Given the description of an element on the screen output the (x, y) to click on. 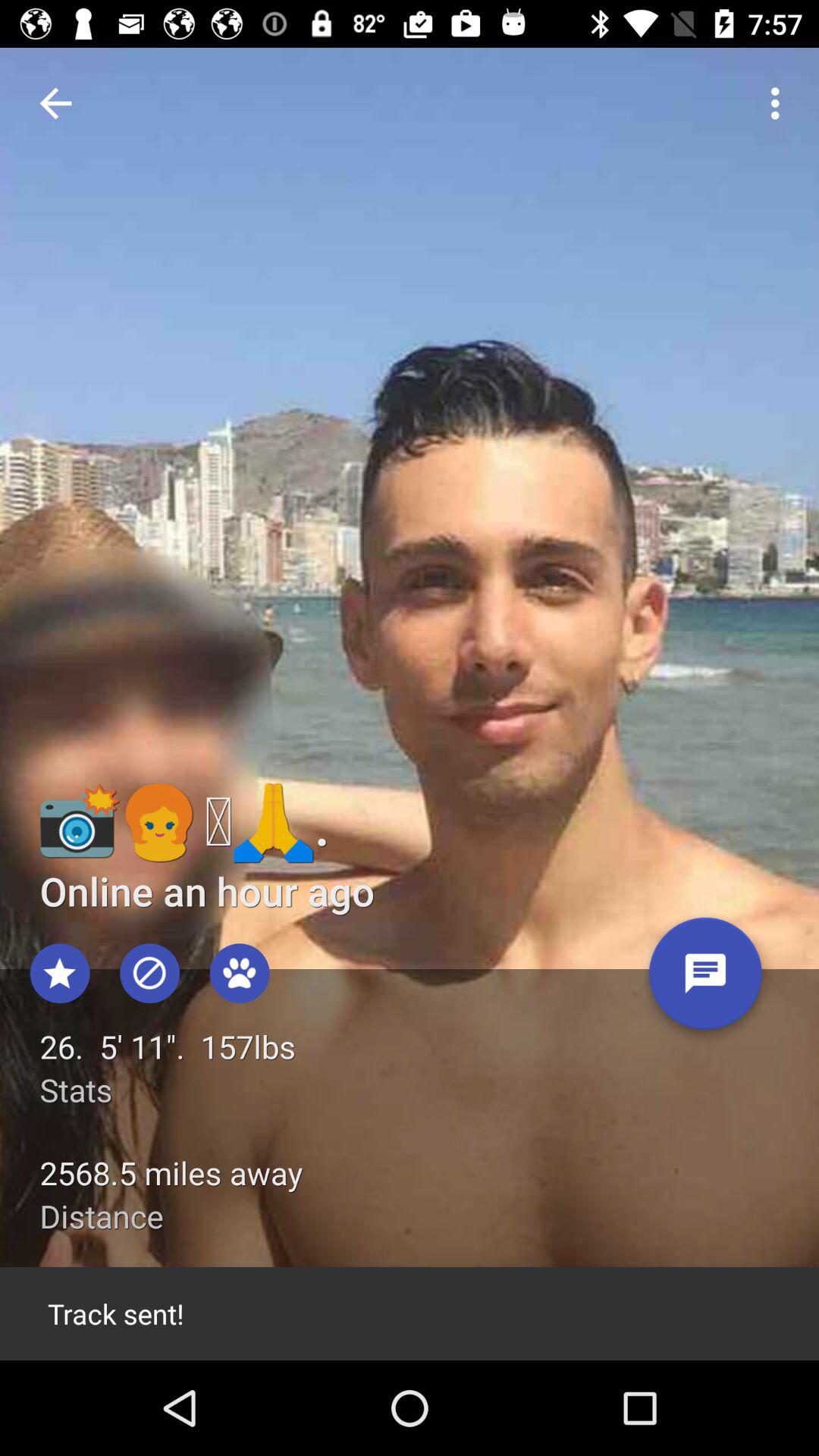
go to message (705, 979)
